Given the description of an element on the screen output the (x, y) to click on. 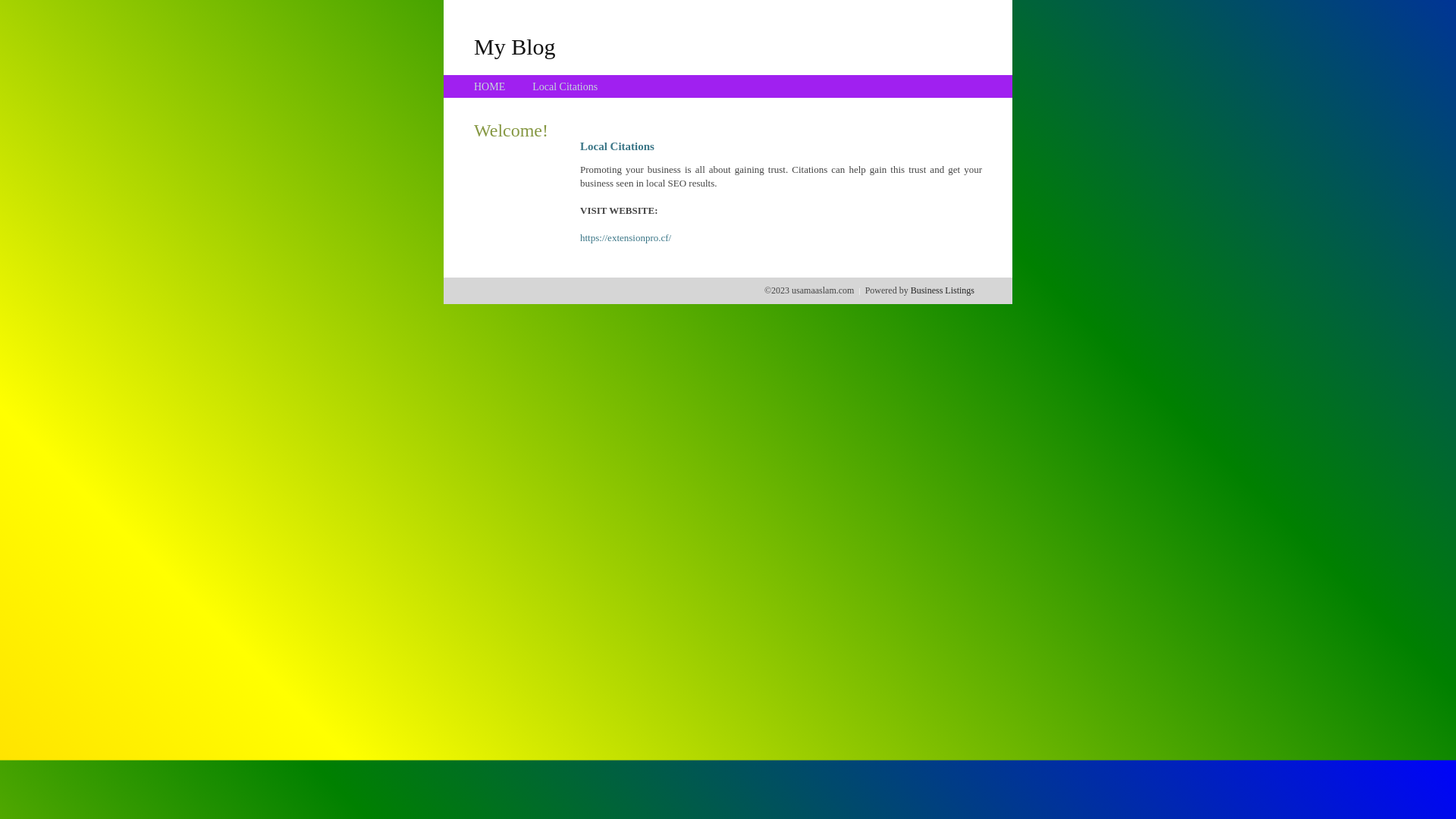
https://extensionpro.cf/ Element type: text (625, 237)
Business Listings Element type: text (942, 290)
Local Citations Element type: text (564, 86)
My Blog Element type: text (514, 46)
HOME Element type: text (489, 86)
